Given the description of an element on the screen output the (x, y) to click on. 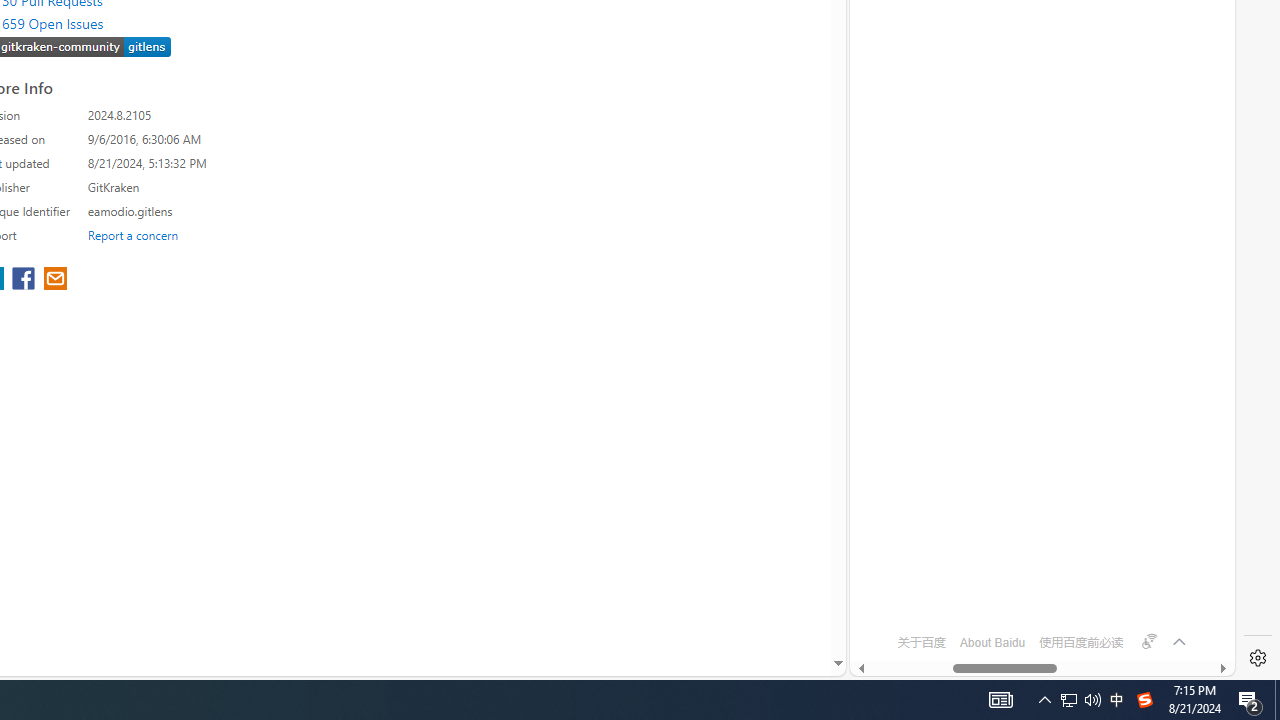
Report a concern (133, 234)
